Given the description of an element on the screen output the (x, y) to click on. 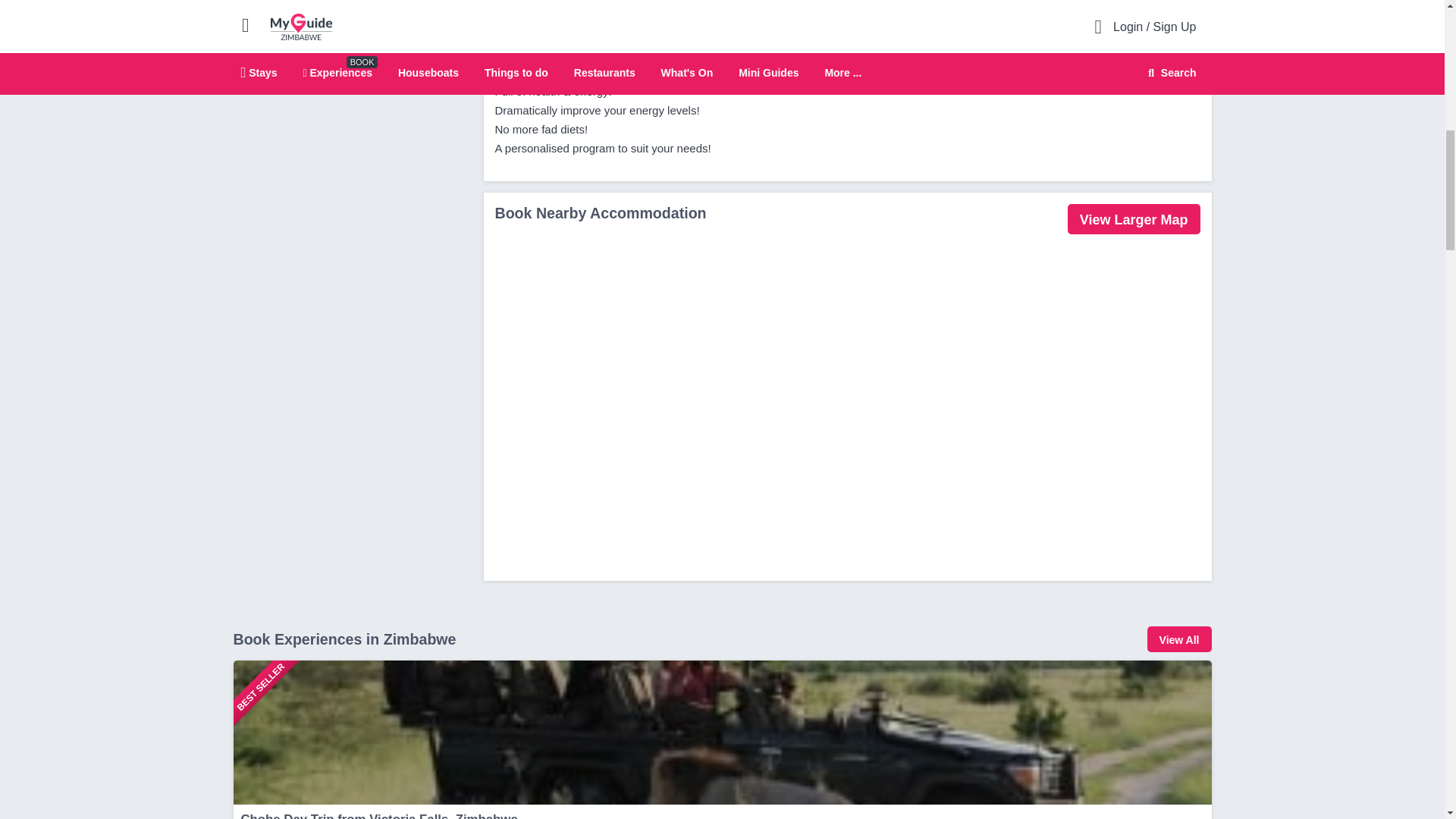
Larger Map for Company: Weight Professional Zimbabwe (1156, 30)
Larger Map for Company: Weight Professional Zimbabwe (1133, 218)
A JS library for interactive maps (1182, 6)
